Given the description of an element on the screen output the (x, y) to click on. 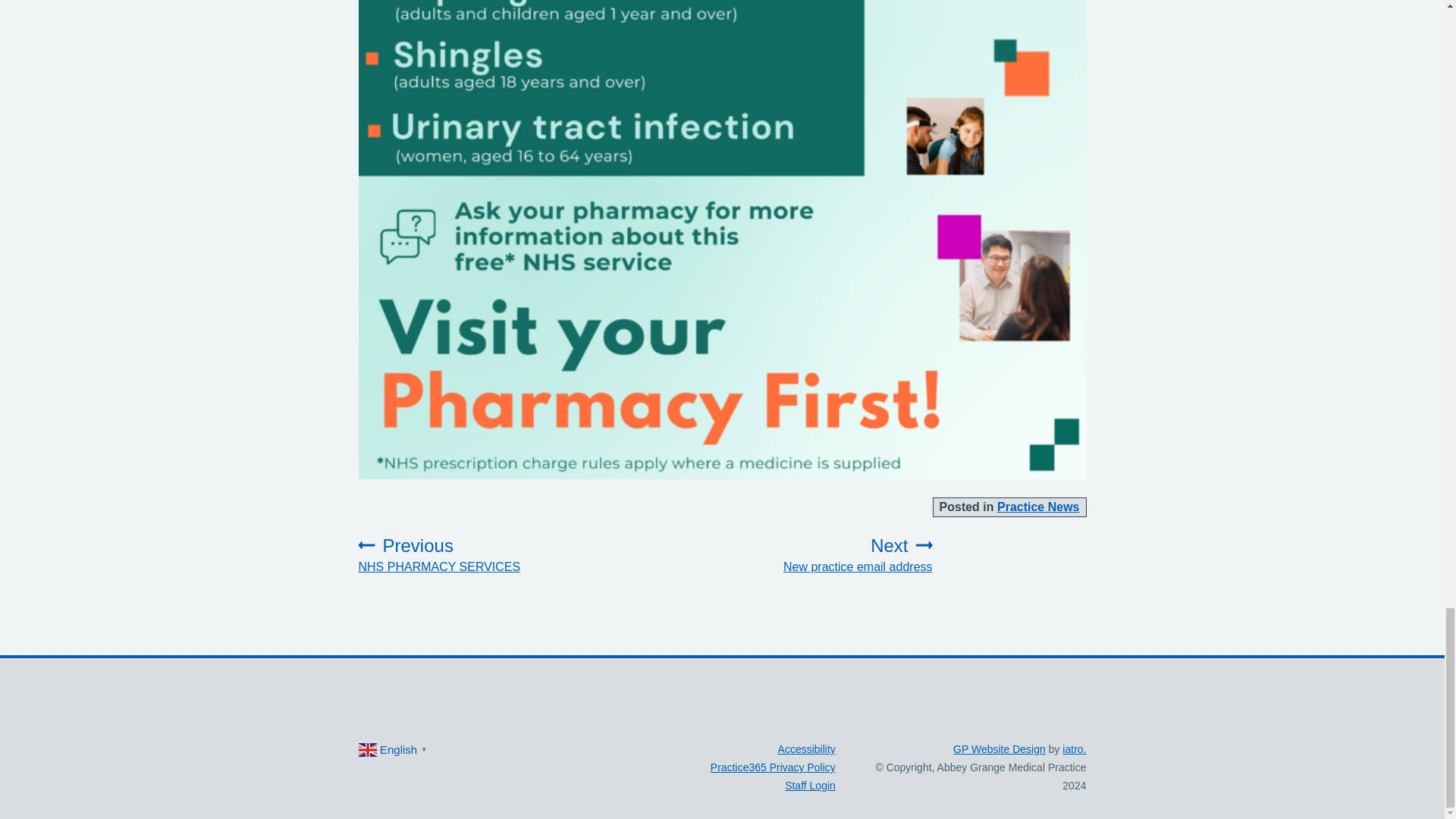
Accessibility (806, 748)
Practice365 Privacy Policy (772, 767)
GP Website Design (999, 748)
Practice News (467, 554)
Staff Login (823, 554)
